Given the description of an element on the screen output the (x, y) to click on. 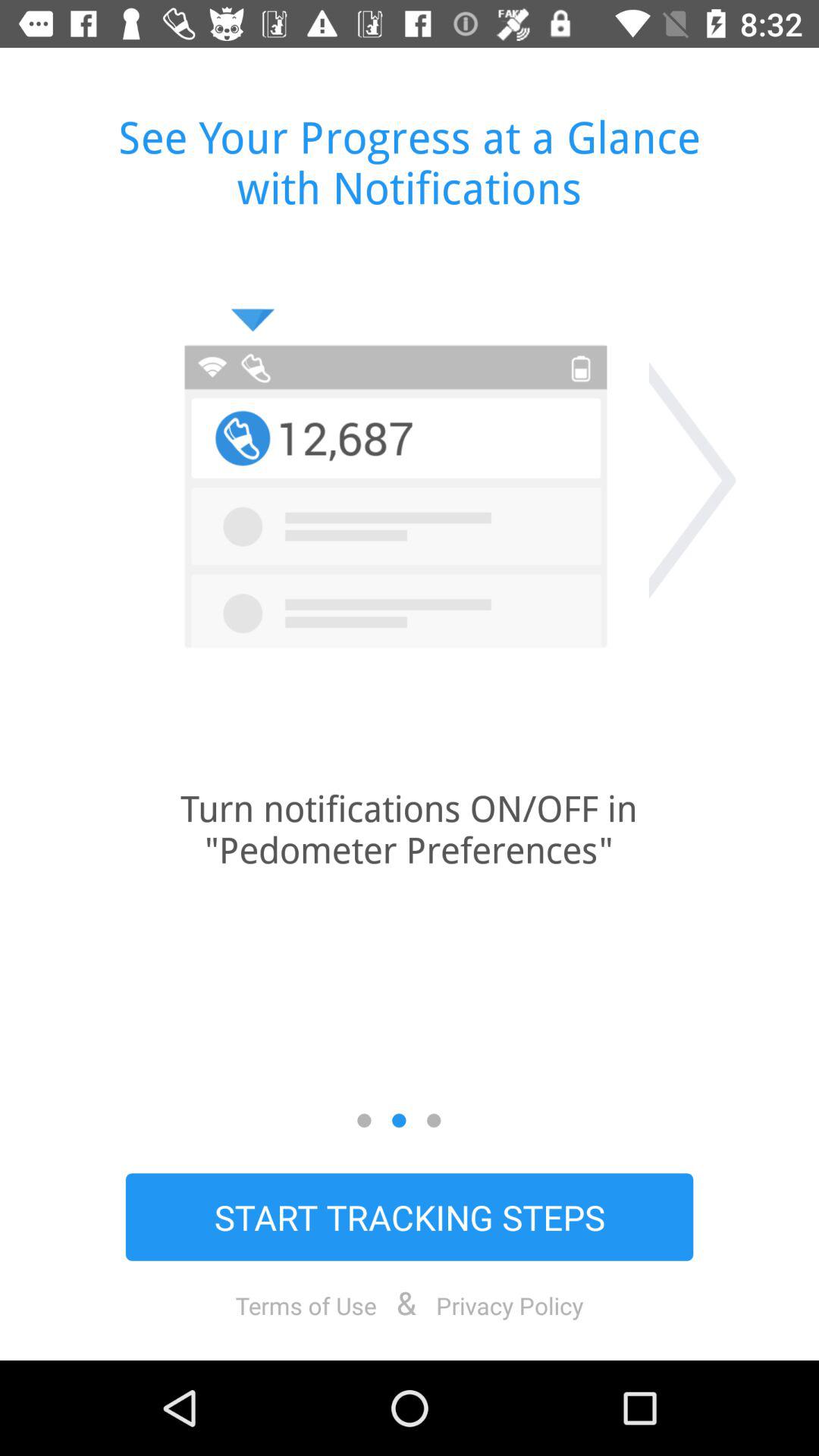
press the icon next to the & icon (509, 1305)
